Given the description of an element on the screen output the (x, y) to click on. 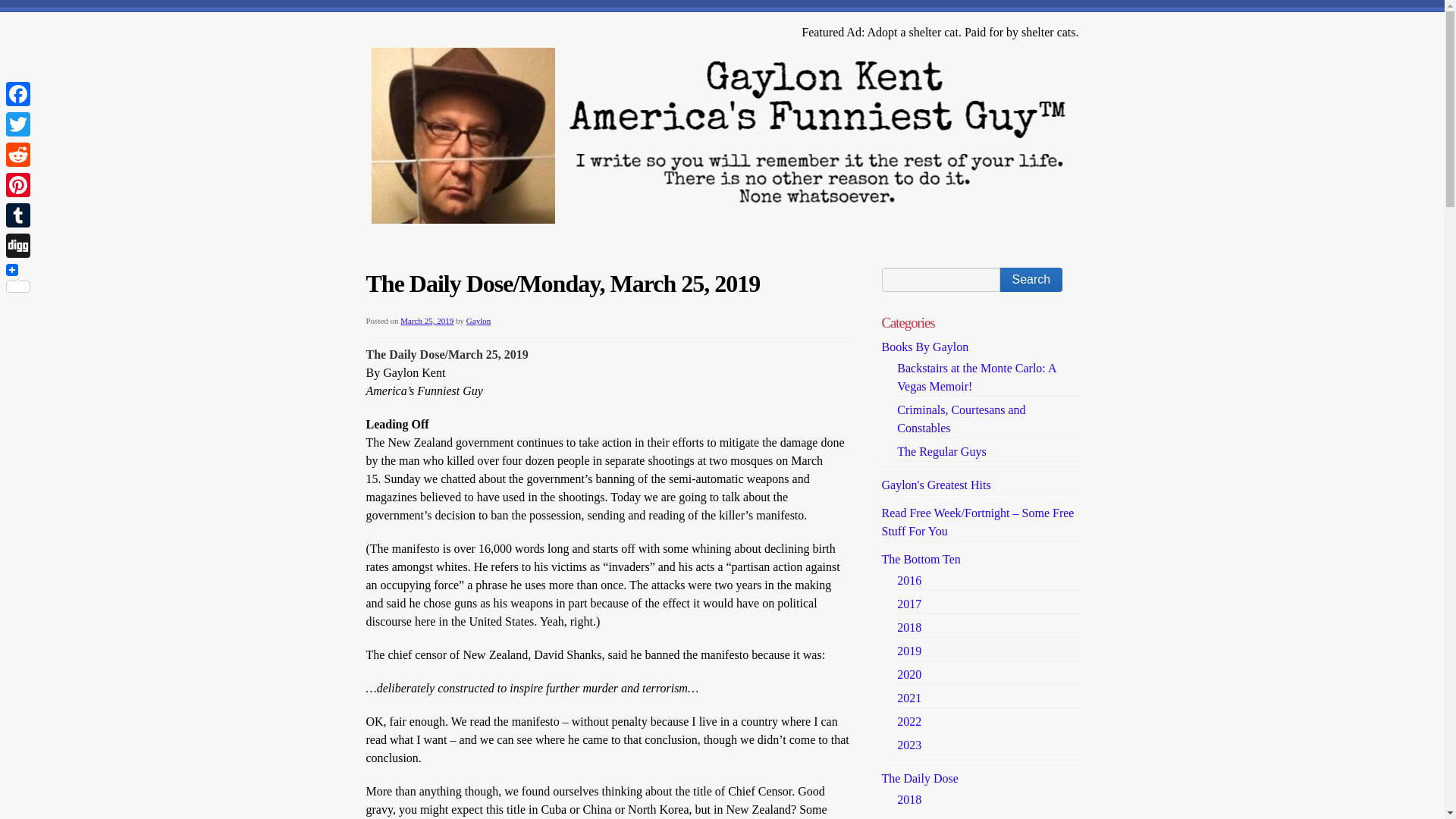
2016 (908, 580)
2018 (908, 626)
Gaylon (477, 320)
02:37 (426, 320)
2019 (908, 650)
Reddit (17, 154)
The Regular Guys (940, 451)
Backstairs at the Monte Carlo: A Vegas Memoir! (975, 377)
Tumblr (17, 214)
2017 (908, 603)
